Given the description of an element on the screen output the (x, y) to click on. 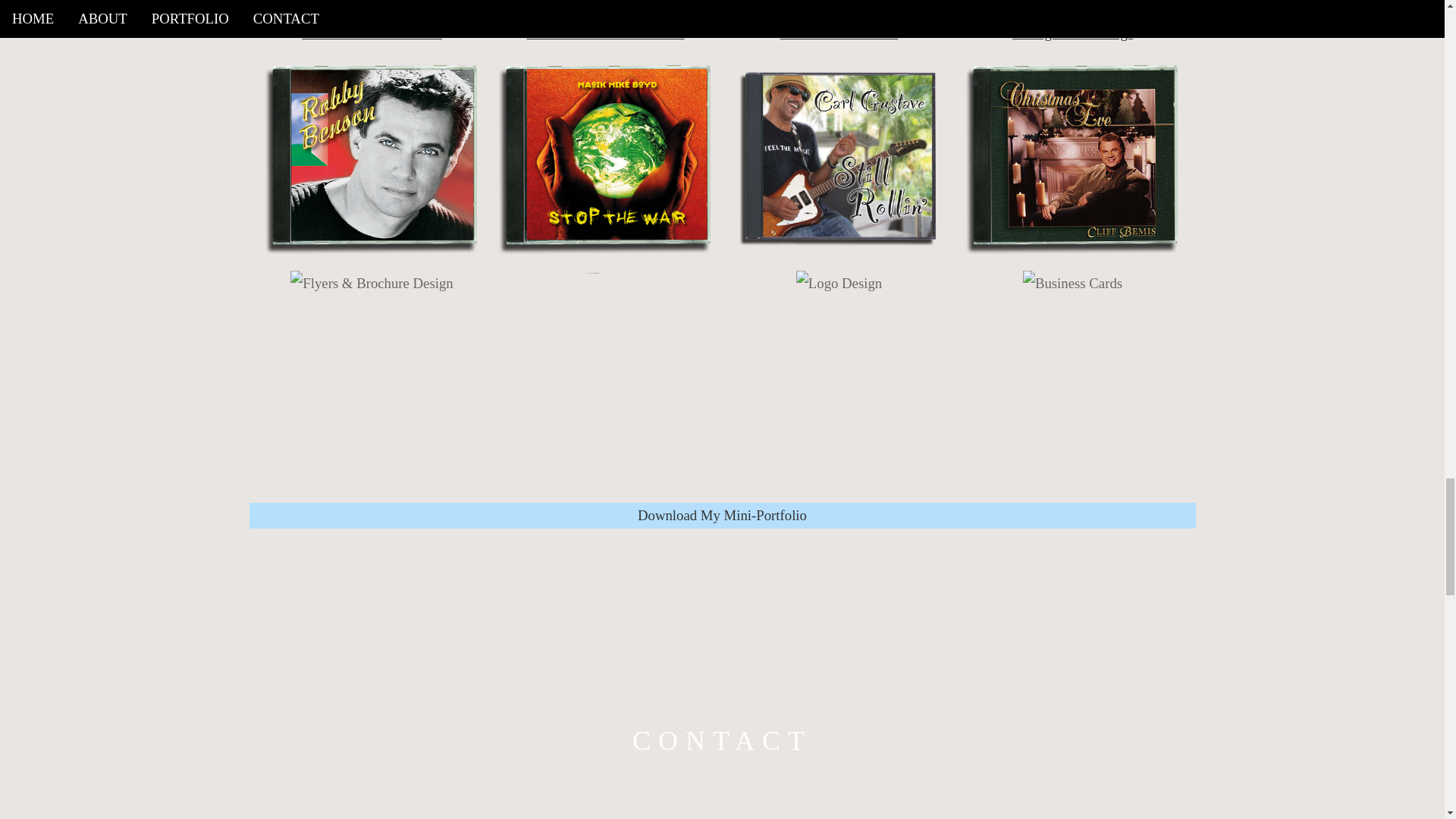
Borrego Desert Dogs (1071, 32)
Download My Mini-Portfolio (721, 514)
McMac Publications (839, 32)
Reserve Studies Website (371, 32)
CCPOA Benefit Trust Fund (605, 32)
